Given the description of an element on the screen output the (x, y) to click on. 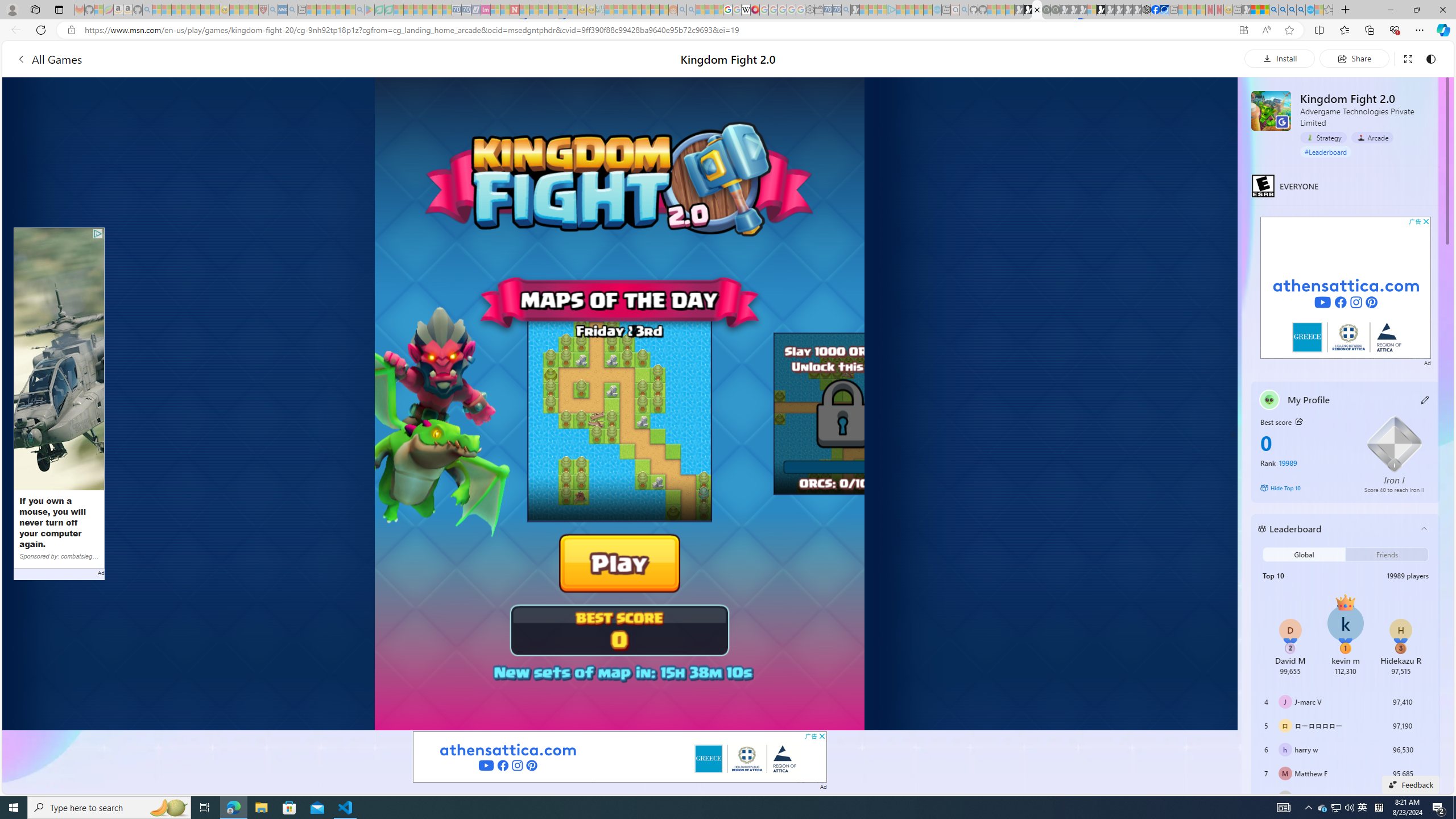
Local - MSN - Sleeping (253, 9)
MediaWiki (754, 9)
Nordace - Cooler Bags (1146, 9)
Microsoft Start Gaming - Sleeping (854, 9)
